Given the description of an element on the screen output the (x, y) to click on. 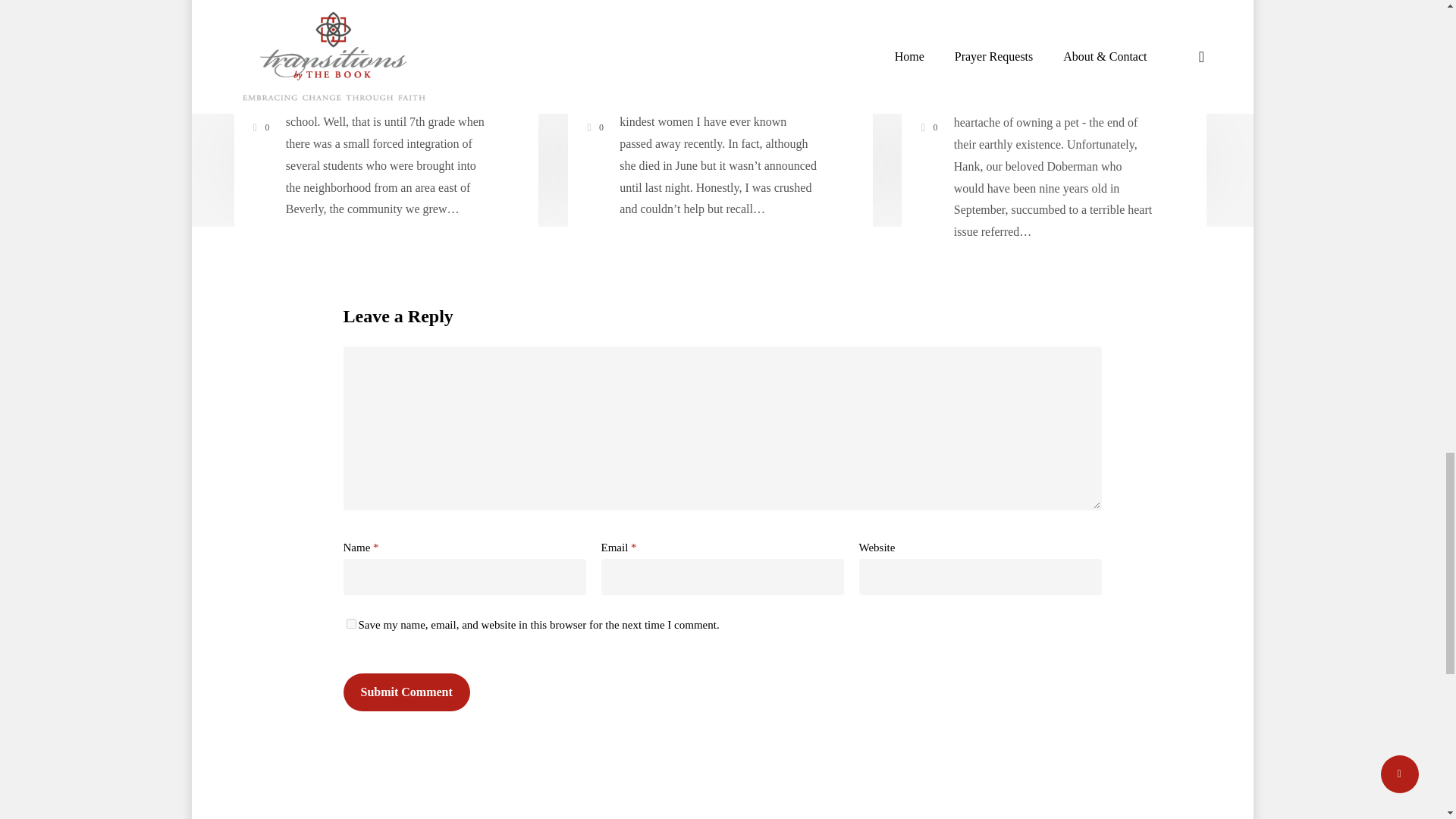
yes (350, 623)
Submit Comment (405, 692)
Submit Comment (405, 692)
